Given the description of an element on the screen output the (x, y) to click on. 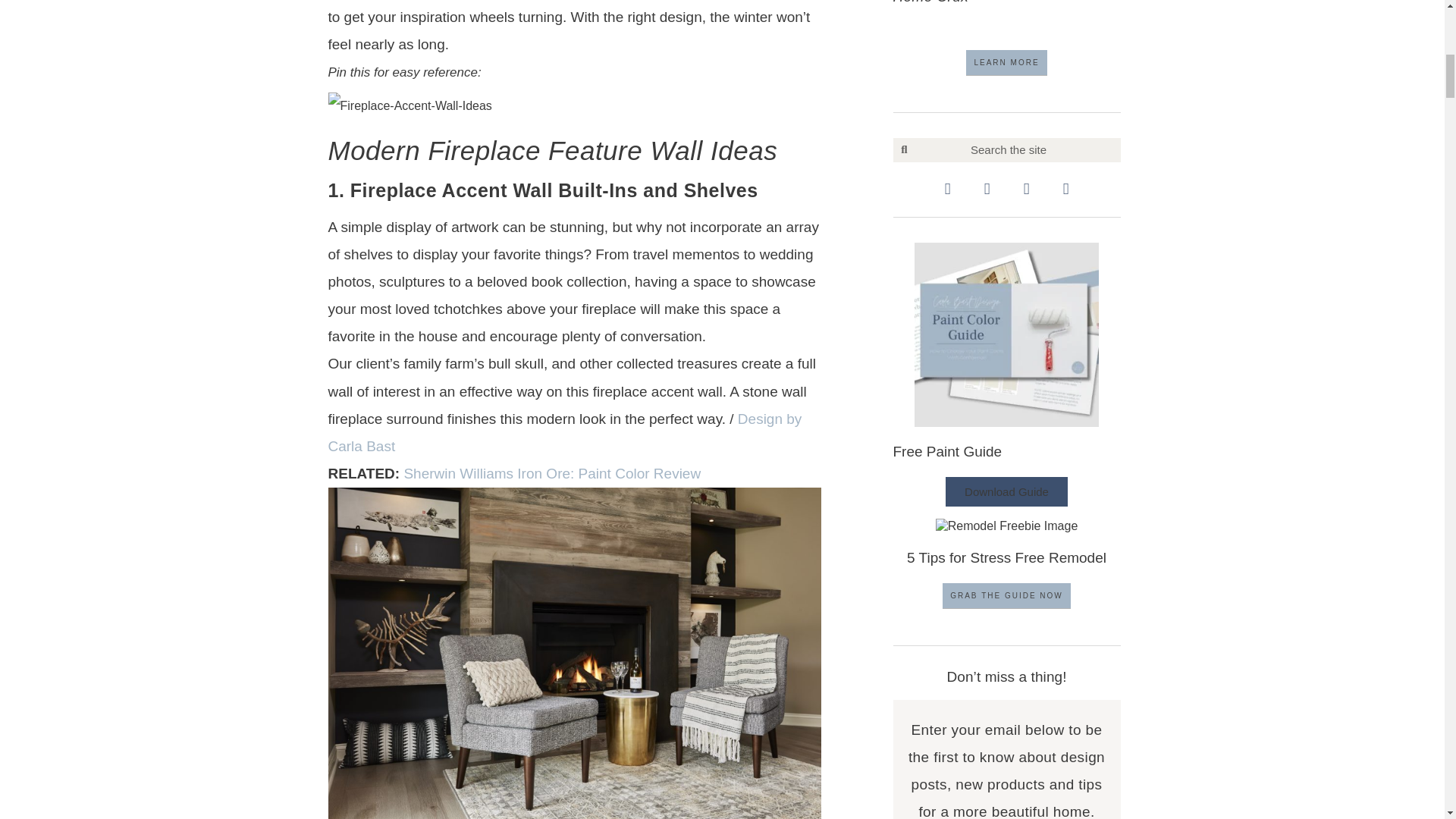
Design by Carla Bast (564, 432)
Sherwin Williams Iron Ore: Paint Color Review (551, 473)
Remodel Freebie Image (1007, 525)
